Given the description of an element on the screen output the (x, y) to click on. 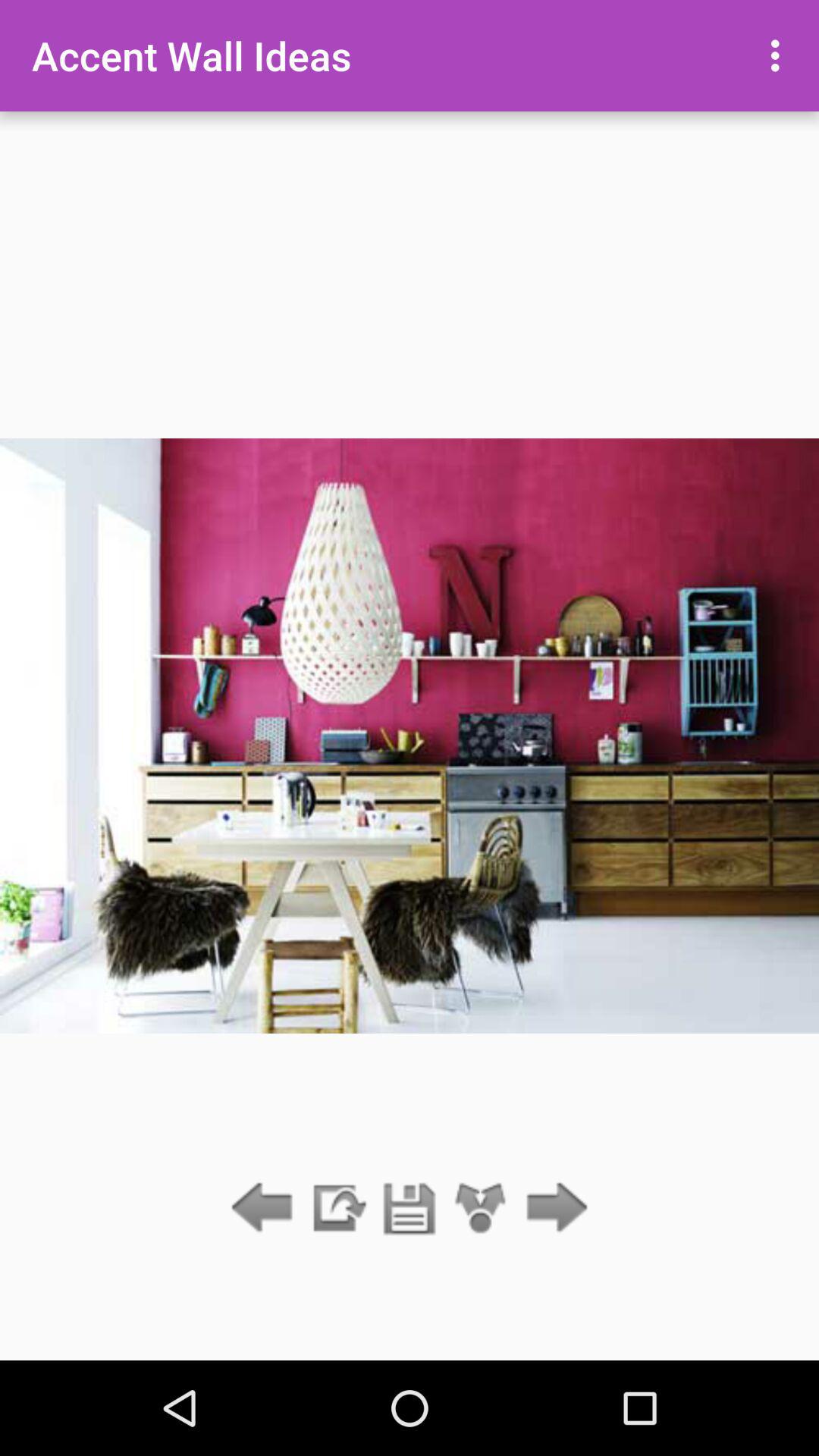
share (480, 1208)
